Given the description of an element on the screen output the (x, y) to click on. 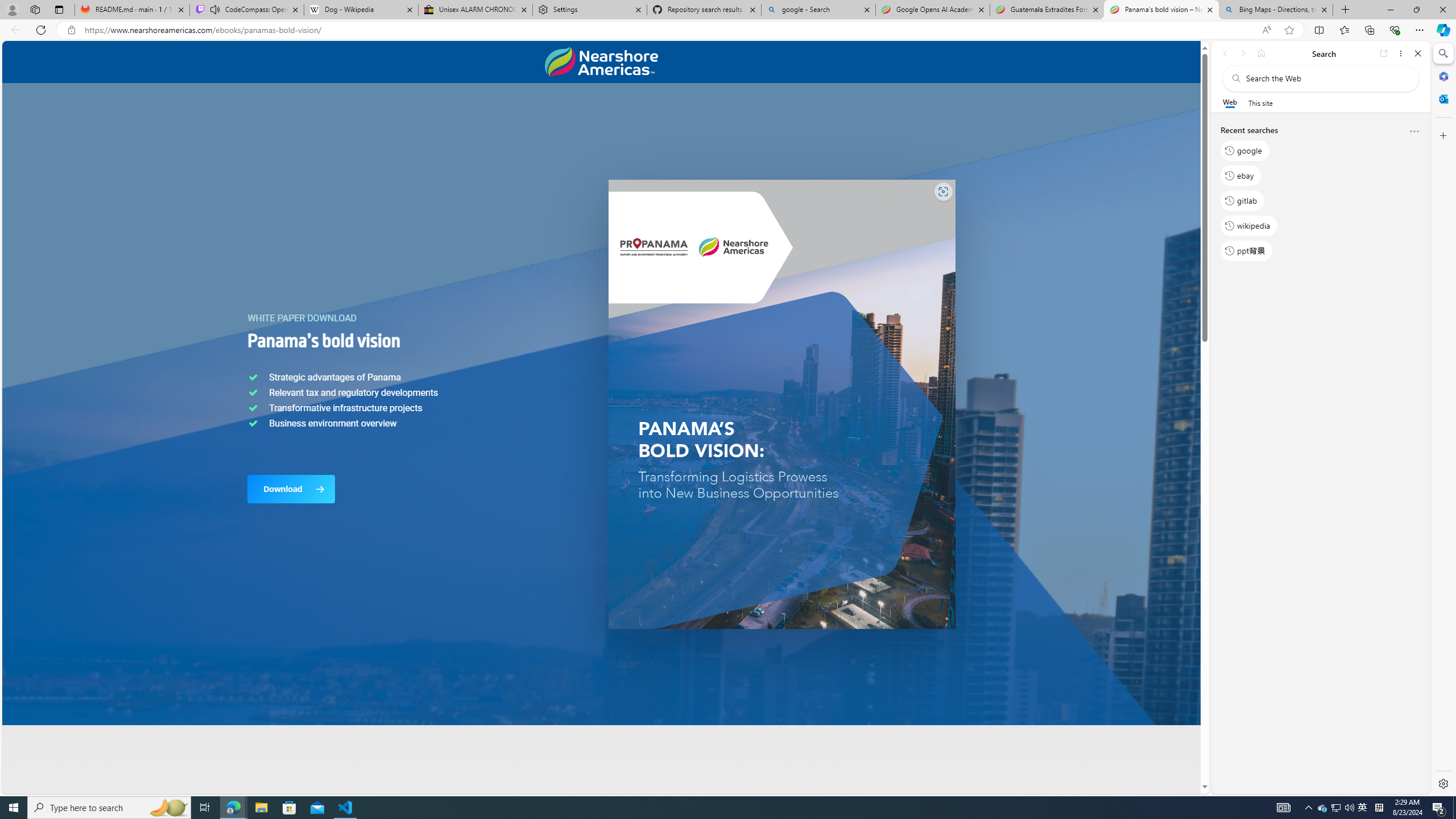
Class: center (601, 61)
